Given the description of an element on the screen output the (x, y) to click on. 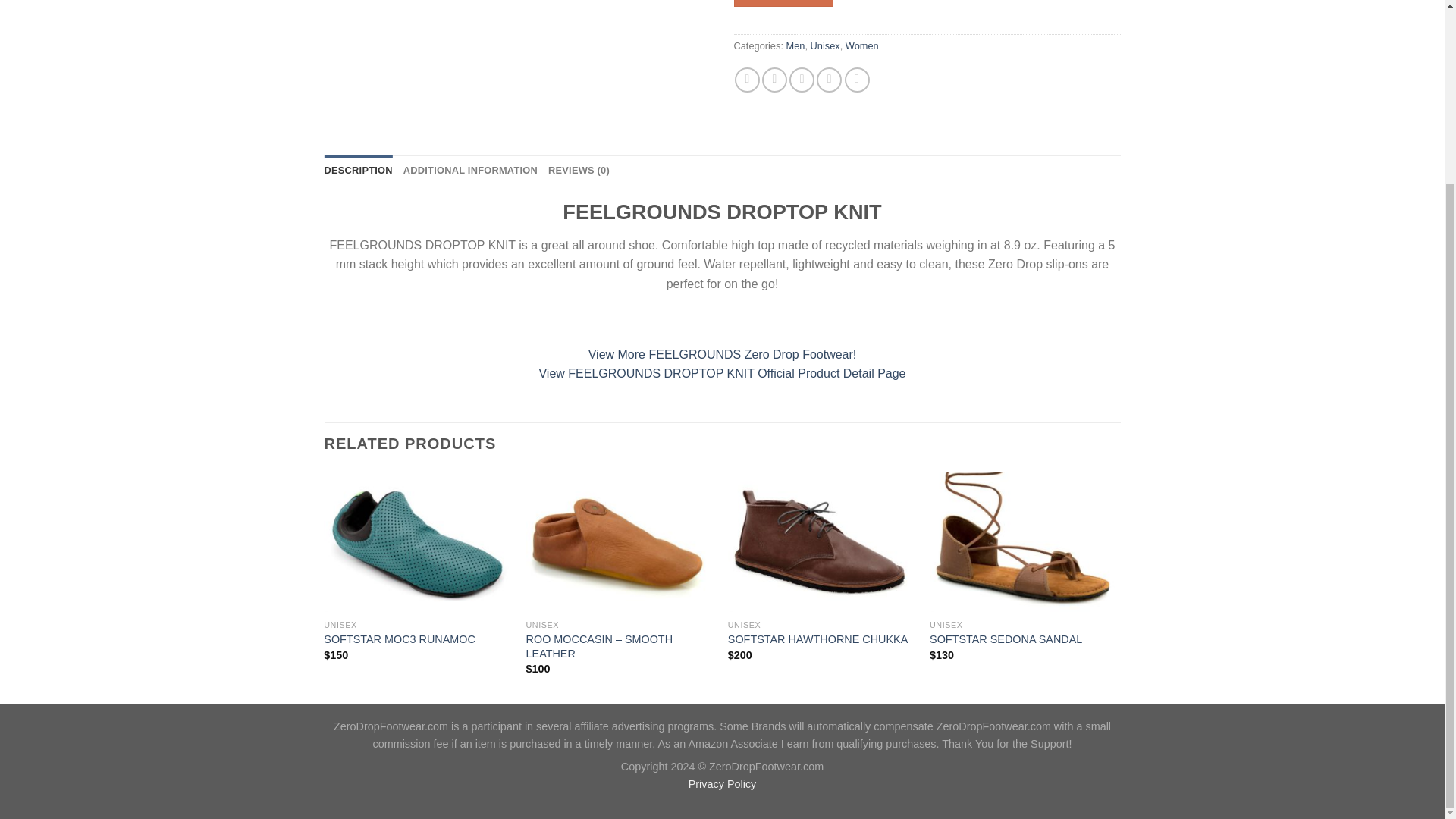
Share on Facebook (747, 79)
Email to a Friend (801, 79)
Share on LinkedIn (856, 79)
Share on Twitter (774, 79)
Pin on Pinterest (828, 79)
